Given the description of an element on the screen output the (x, y) to click on. 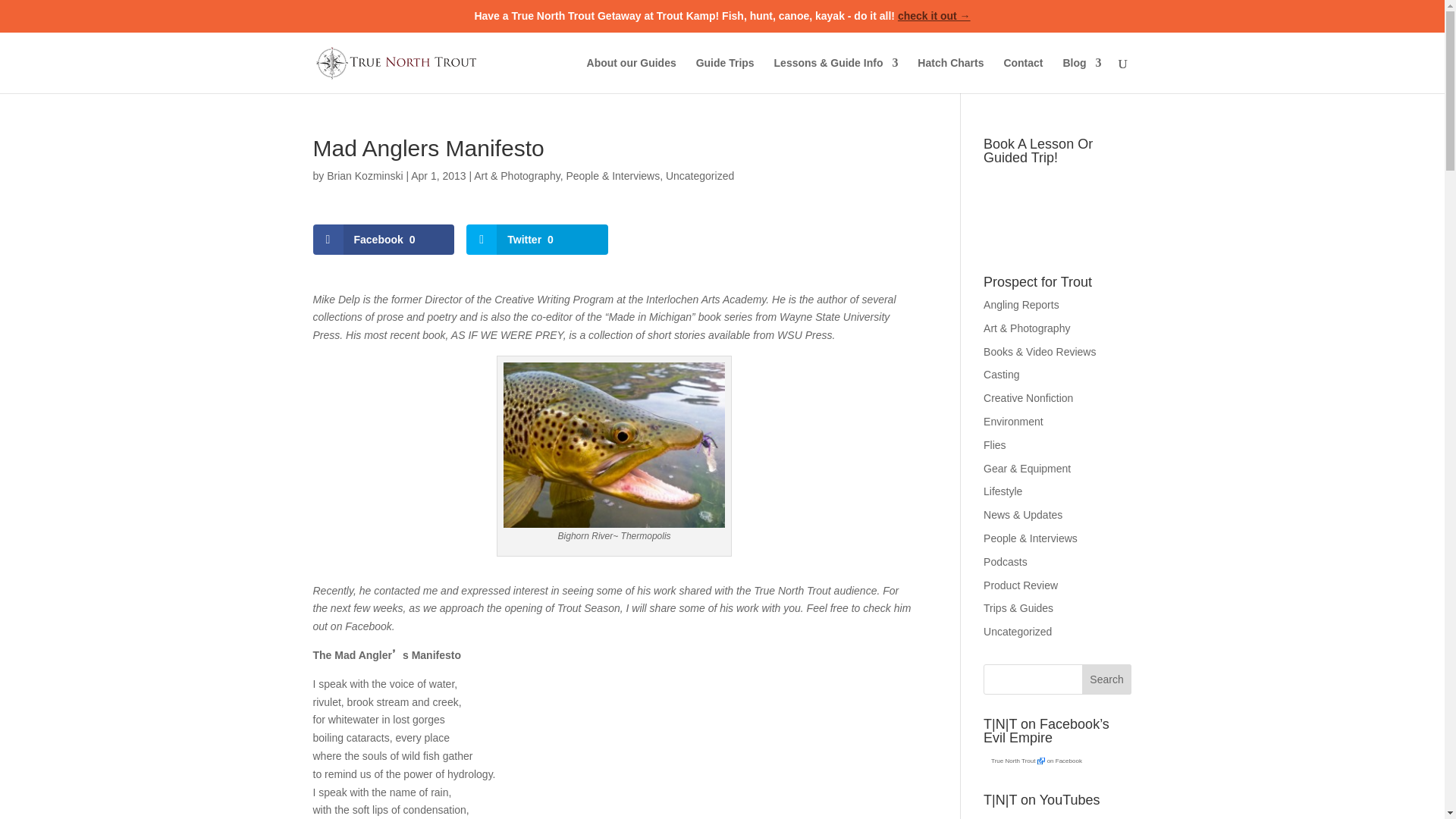
Guide Trips (724, 75)
Angling Reports (1021, 304)
Facebook 0 (383, 239)
Brian Kozminski (364, 175)
Environment (1013, 421)
Flies (995, 444)
About our Guides (631, 75)
Hatch Charts (950, 75)
Bighorn River Brown (614, 444)
Uncategorized (699, 175)
